Given the description of an element on the screen output the (x, y) to click on. 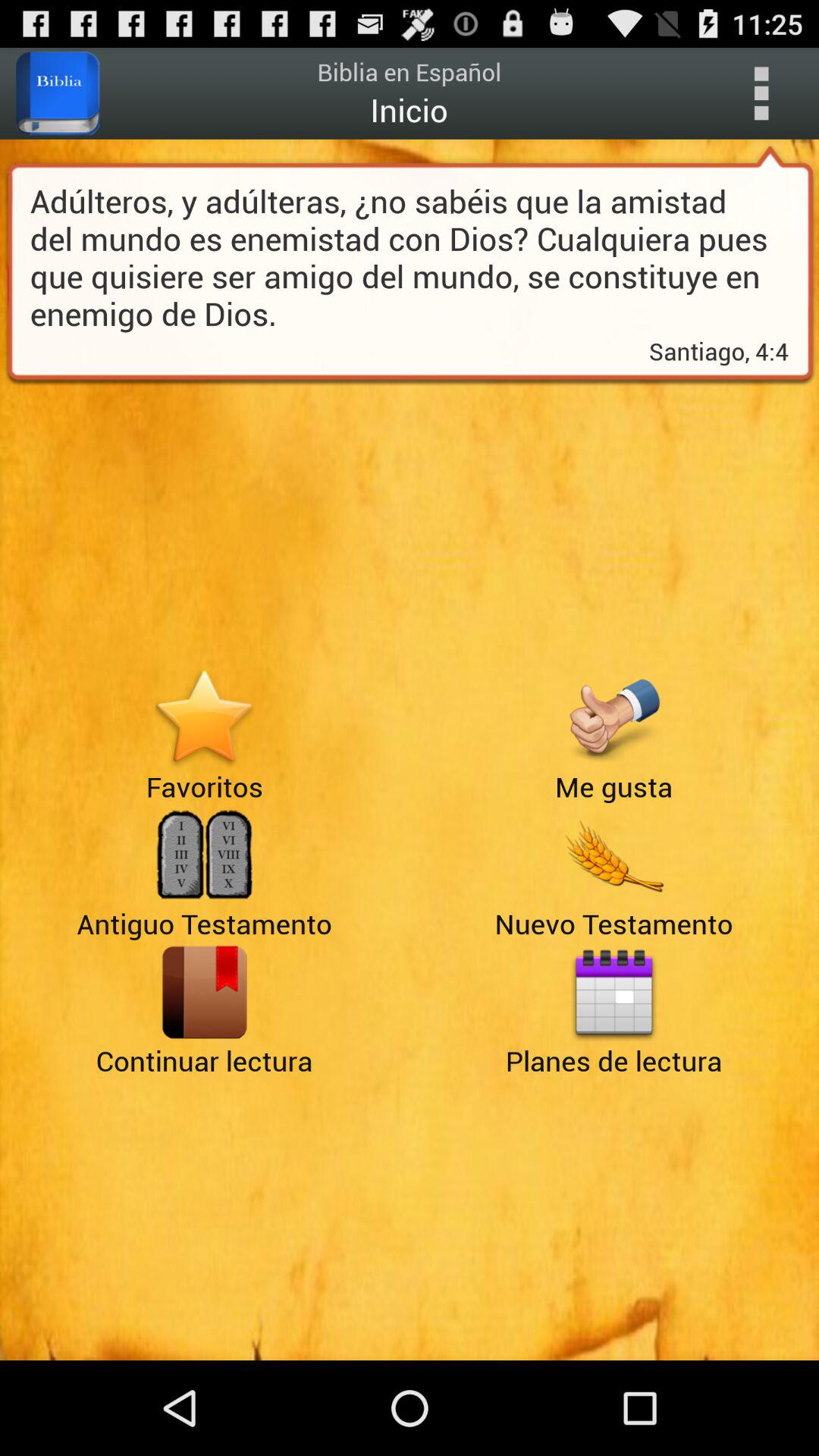
select icon above the santiago, 4:4 icon (409, 256)
